Given the description of an element on the screen output the (x, y) to click on. 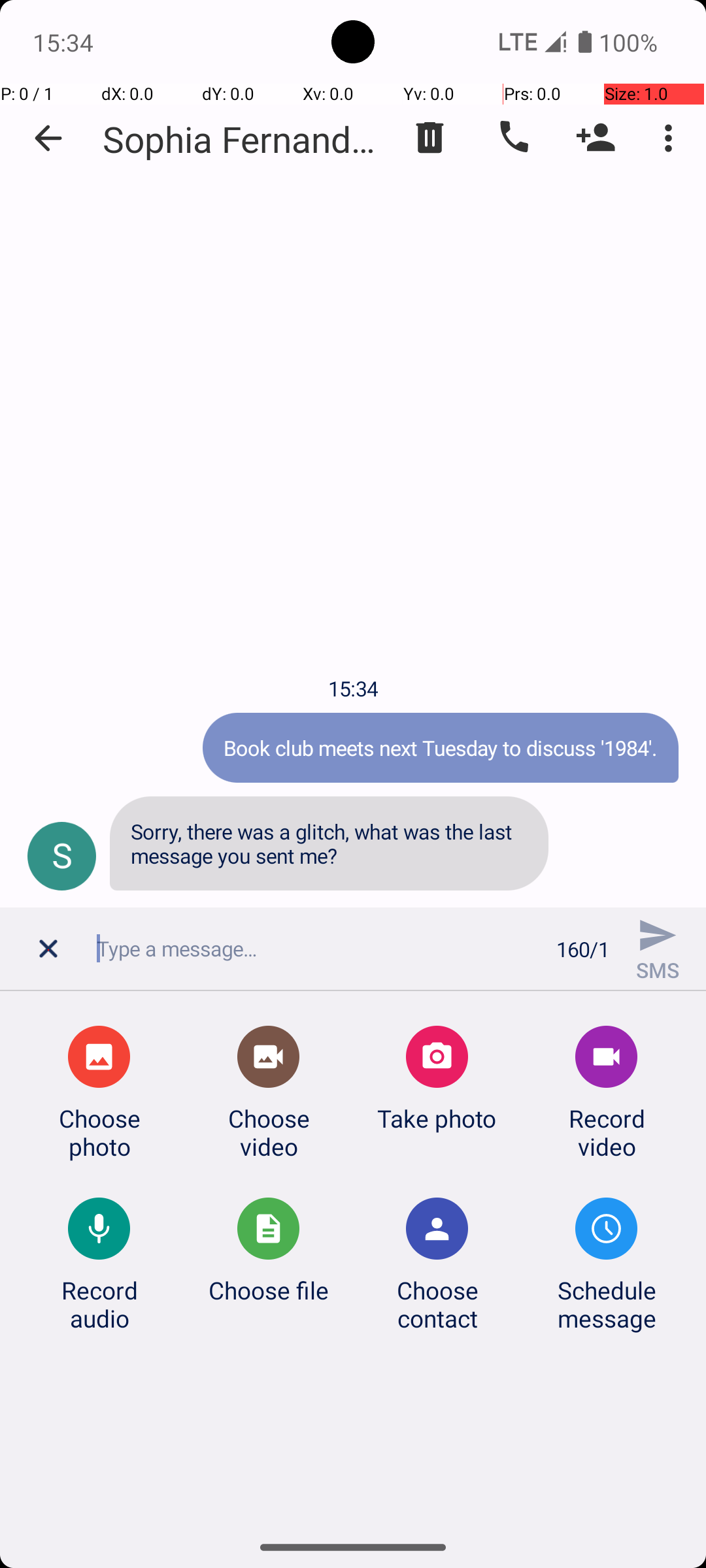
Sophia Fernandez Element type: android.widget.TextView (241, 138)
160/1 Element type: android.widget.TextView (582, 948)
Book club meets next Tuesday to discuss '1984'. Element type: android.widget.TextView (440, 747)
Choose photo Element type: android.widget.TextView (98, 1131)
Choose video Element type: android.widget.TextView (268, 1131)
Record video Element type: android.widget.TextView (606, 1131)
Record audio Element type: android.widget.TextView (98, 1303)
Choose file Element type: android.widget.TextView (268, 1289)
Choose contact Element type: android.widget.TextView (436, 1303)
Schedule message Element type: android.widget.TextView (606, 1303)
